Given the description of an element on the screen output the (x, y) to click on. 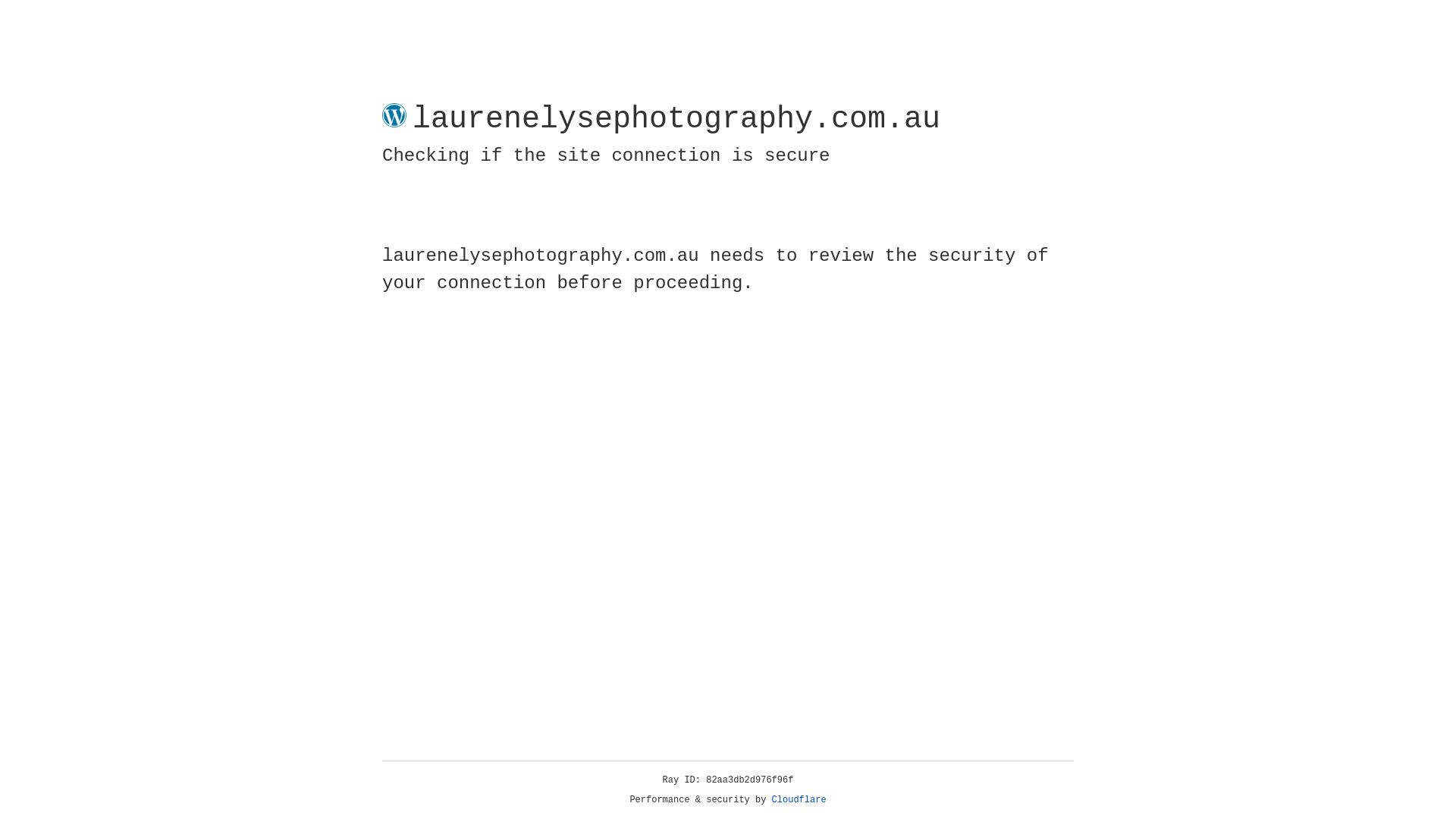
Cloudflare Element type: text (798, 799)
